Given the description of an element on the screen output the (x, y) to click on. 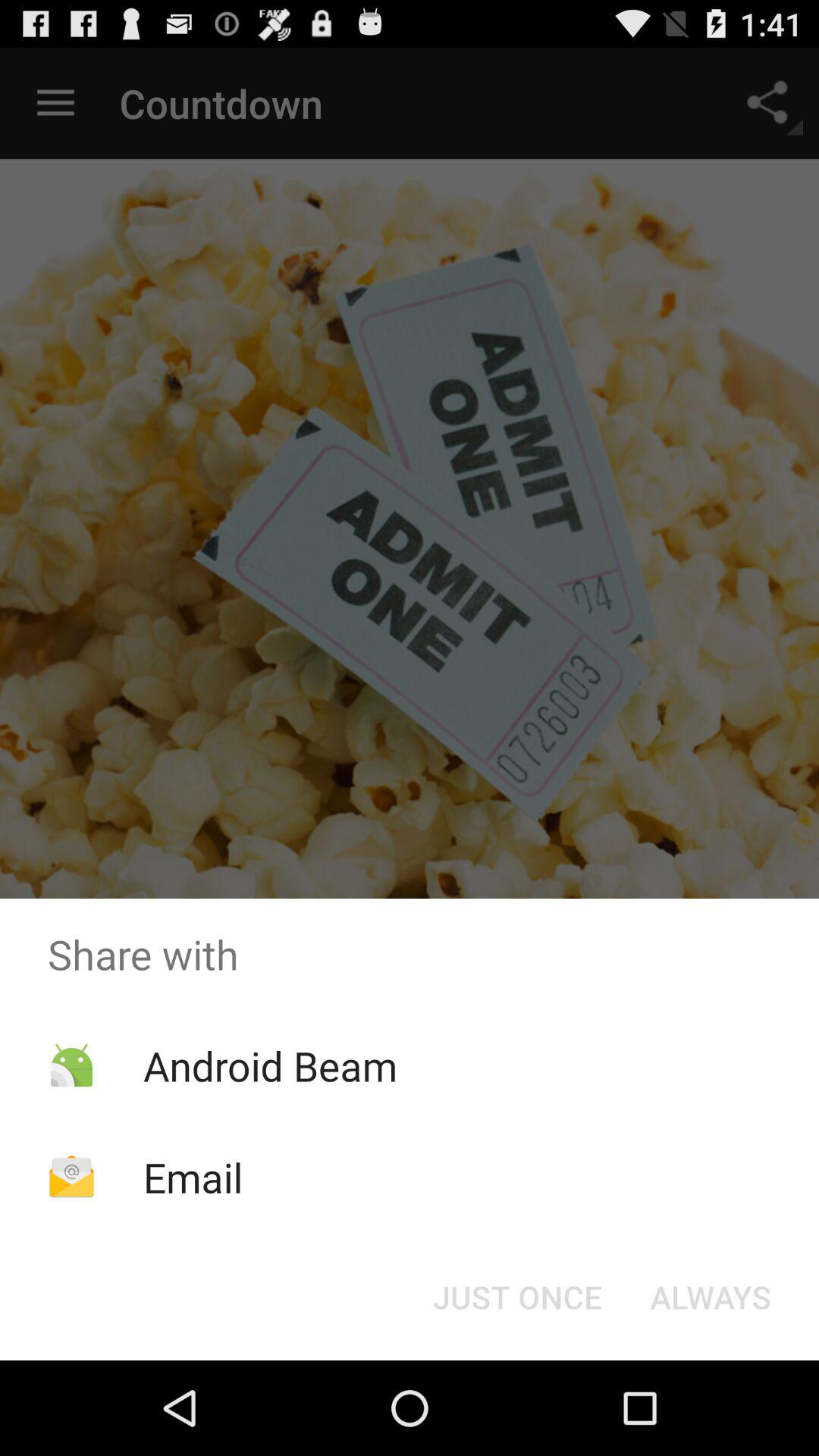
click app below the share with app (270, 1065)
